Given the description of an element on the screen output the (x, y) to click on. 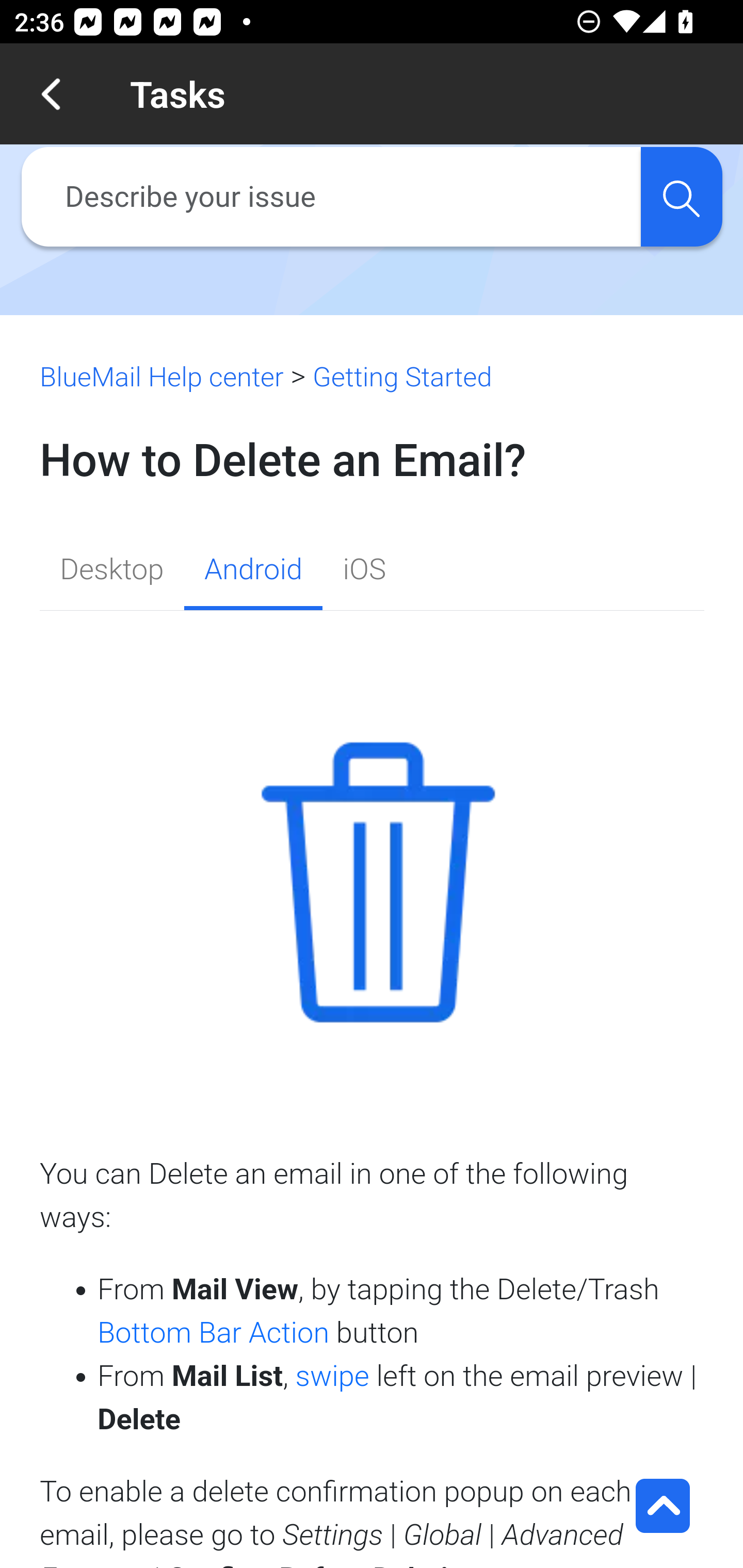
Navigate up (50, 93)
search (680, 196)
BlueMail Help center BlueMail  Help center (162, 376)
Getting Started (401, 376)
Desktop (112, 571)
Android (252, 571)
iOS (364, 571)
Bottom Bar Action (213, 1331)
swipe (332, 1375)
